Given the description of an element on the screen output the (x, y) to click on. 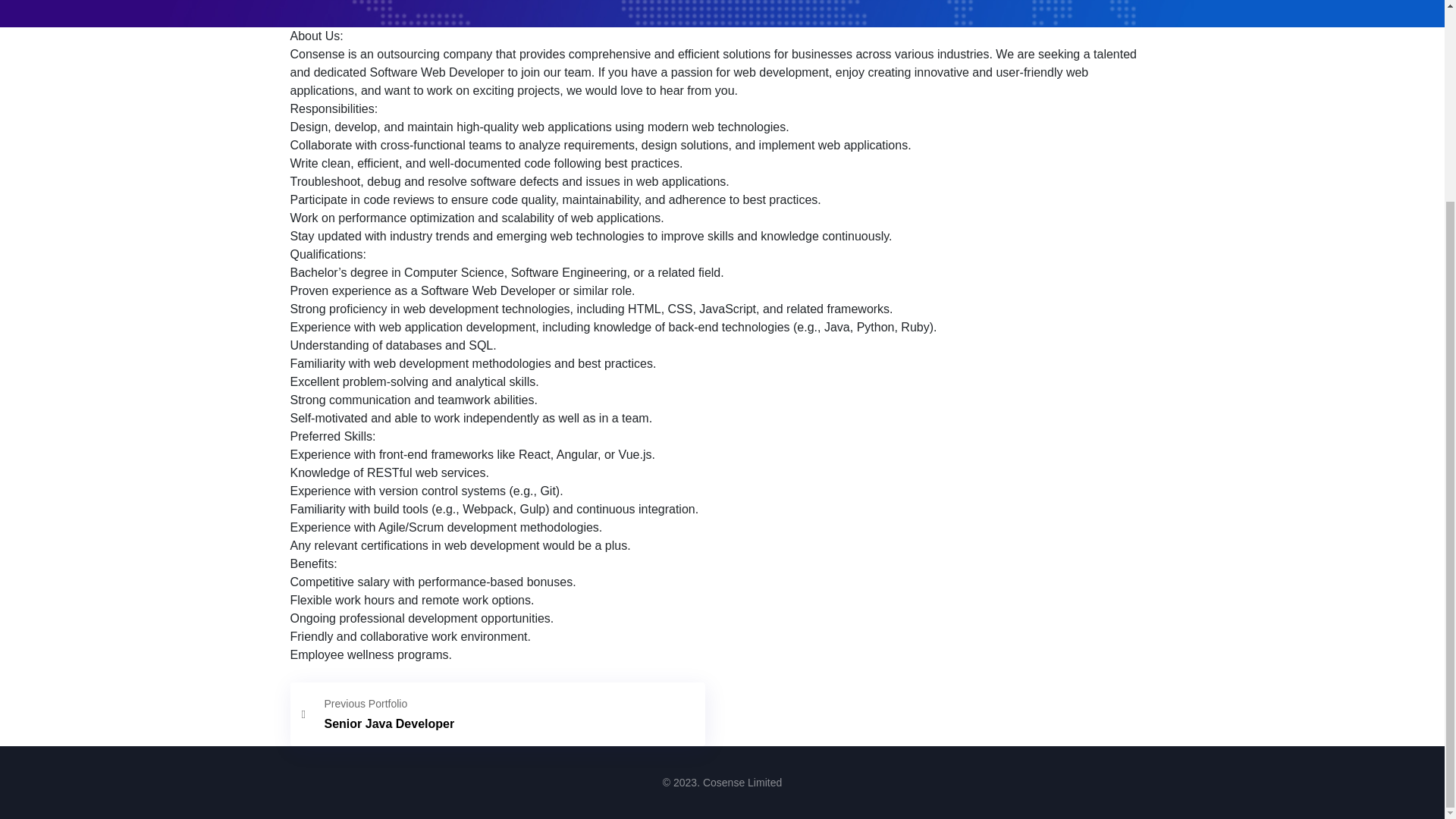
Senior Java Developer (497, 713)
